Given the description of an element on the screen output the (x, y) to click on. 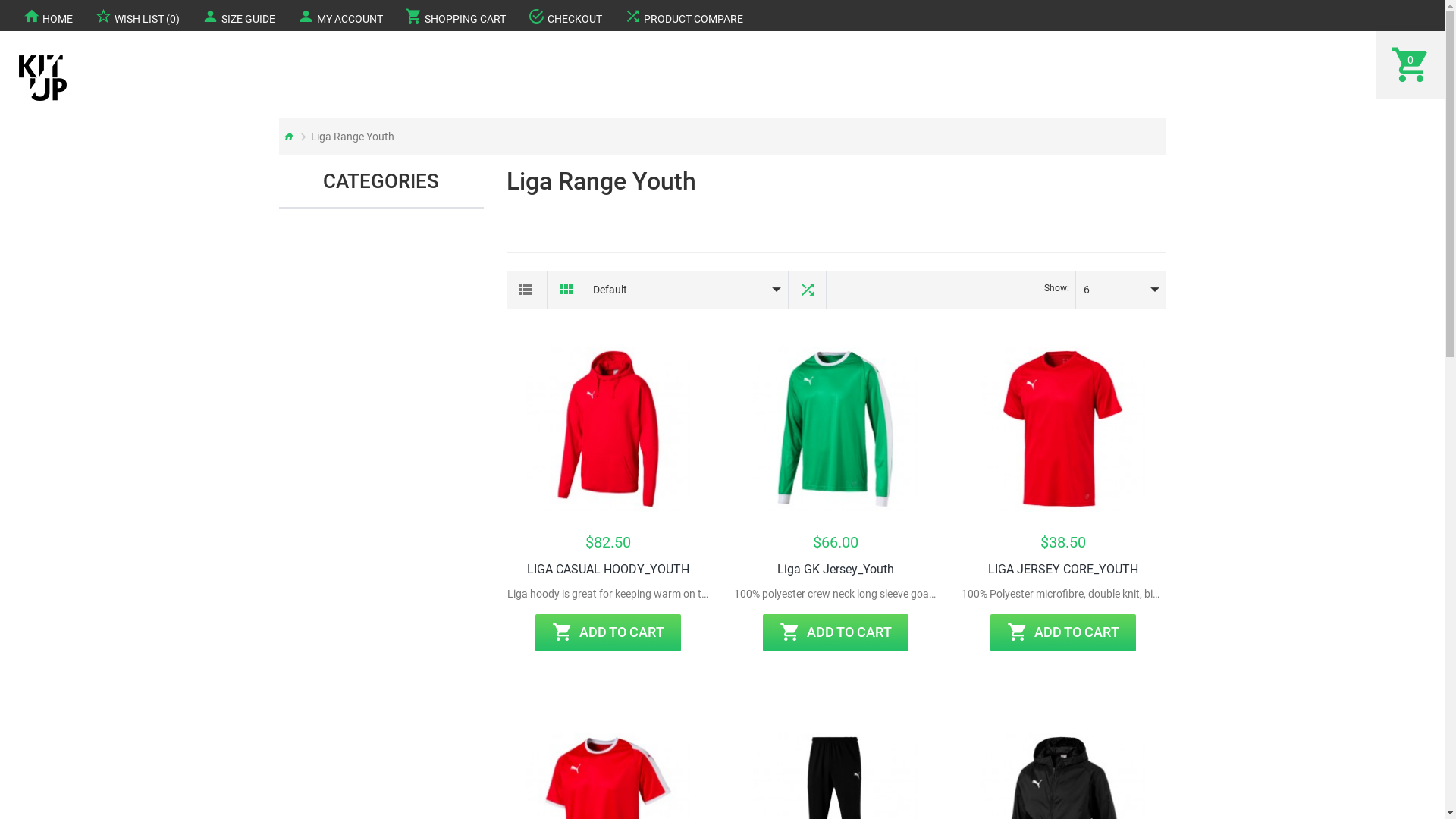
LIGA CASUAL HOODY_YOUTH Element type: text (608, 569)
LIGA CASUAL HOODY_YOUTH Element type: hover (608, 428)
Kit-Up Element type: hover (42, 77)
PRODUCT COMPARE Element type: text (683, 15)
6 Element type: text (1108, 289)
Liga GK Jersey_Youth Element type: hover (835, 428)
ADD TO CART Element type: text (1062, 632)
WISH LIST (0) Element type: text (137, 15)
Default Element type: text (675, 289)
ADD TO CART Element type: text (607, 632)
CHECKOUT Element type: text (564, 15)
MY ACCOUNT Element type: text (339, 15)
Liga GK Jersey_Youth Element type: text (835, 569)
ADD TO CART Element type: text (835, 632)
LIGA JERSEY CORE_YOUTH Element type: text (1063, 569)
HOME Element type: text (47, 15)
0 Element type: text (1410, 65)
LIGA JERSEY CORE_YOUTH Element type: hover (1062, 428)
SIZE GUIDE Element type: text (238, 15)
SHOPPING CART Element type: text (455, 15)
